Given the description of an element on the screen output the (x, y) to click on. 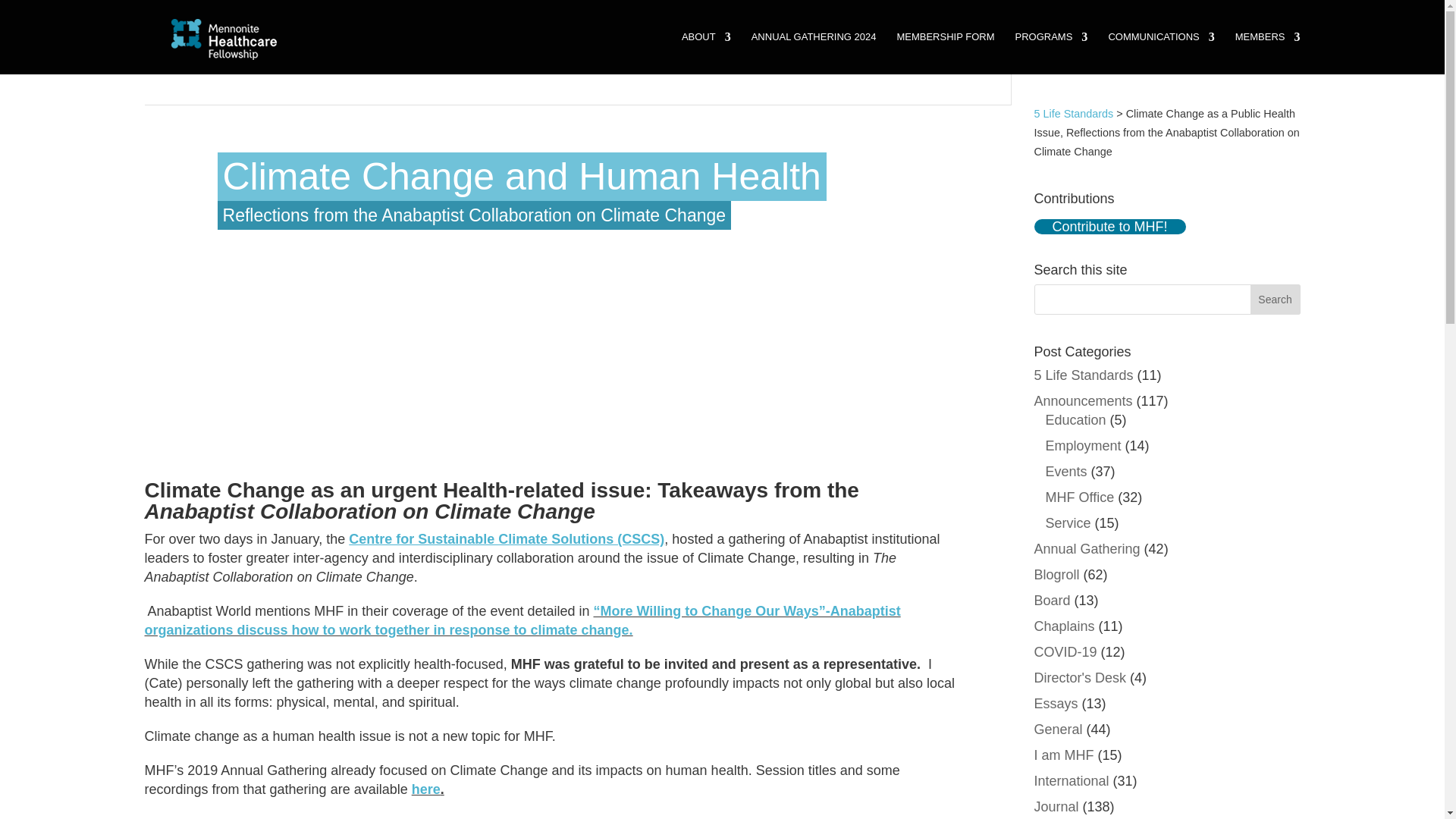
MEMBERS (1267, 52)
ABOUT (705, 52)
Search (1275, 299)
MEMBERSHIP FORM (945, 52)
COMMUNICATIONS (1161, 52)
PROGRAMS (1050, 52)
ANNUAL GATHERING 2024 (813, 52)
Go to the 5 Life Standards category archives. (1073, 113)
